Given the description of an element on the screen output the (x, y) to click on. 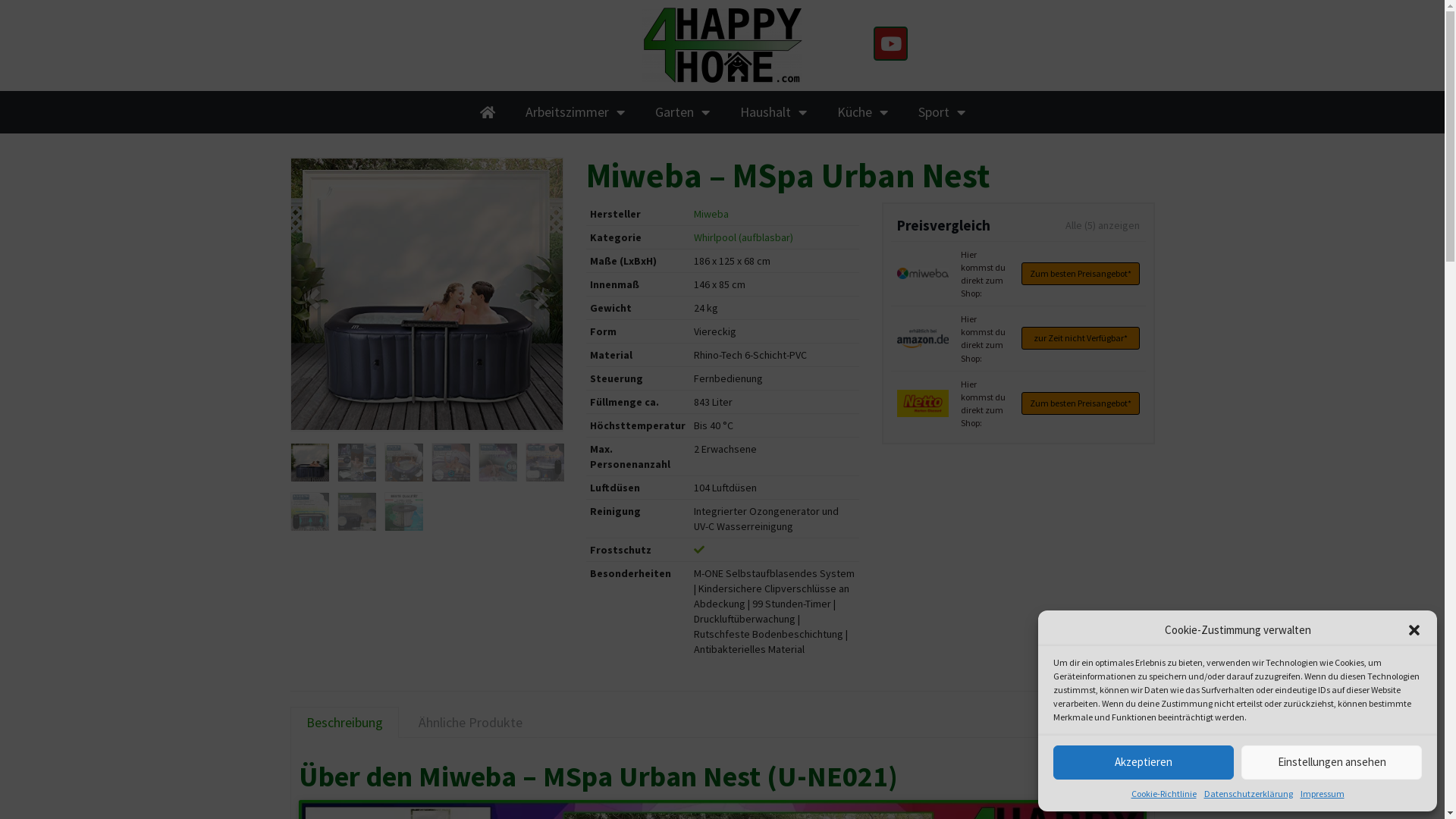
Impressum Element type: text (1321, 793)
Sport Element type: text (940, 111)
Zum besten Preisangebot* Element type: text (1079, 273)
Miweba Element type: text (710, 212)
Arbeitszimmer Element type: text (574, 111)
Cookie-Richtlinie Element type: text (1163, 793)
Garten Element type: text (682, 111)
Einstellungen ansehen Element type: text (1331, 762)
Logo-IlluBIG Element type: hover (722, 45)
Alle (5) anzeigen Element type: text (1101, 224)
Beschreibung Element type: text (343, 722)
Zum besten Preisangebot* Element type: text (1079, 403)
Whirlpool (aufblasbar) Element type: text (743, 237)
Akzeptieren Element type: text (1143, 762)
Haushalt Element type: text (773, 111)
